Given the description of an element on the screen output the (x, y) to click on. 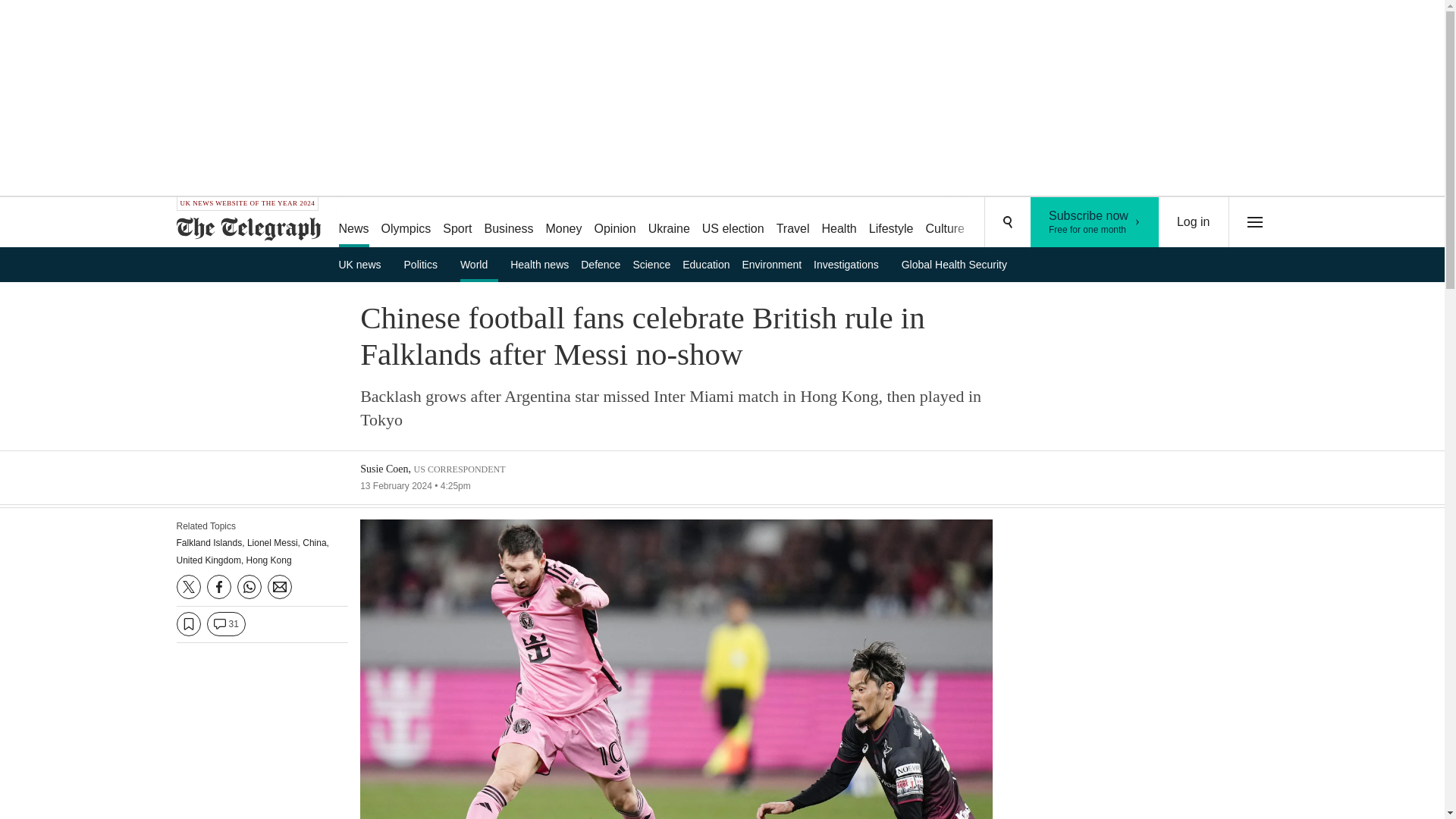
Culture (944, 223)
Puzzles (998, 223)
Business (509, 223)
Health (838, 223)
Travel (792, 223)
Opinion (615, 223)
Money (1094, 222)
Politics (563, 223)
UK news (425, 264)
